Given the description of an element on the screen output the (x, y) to click on. 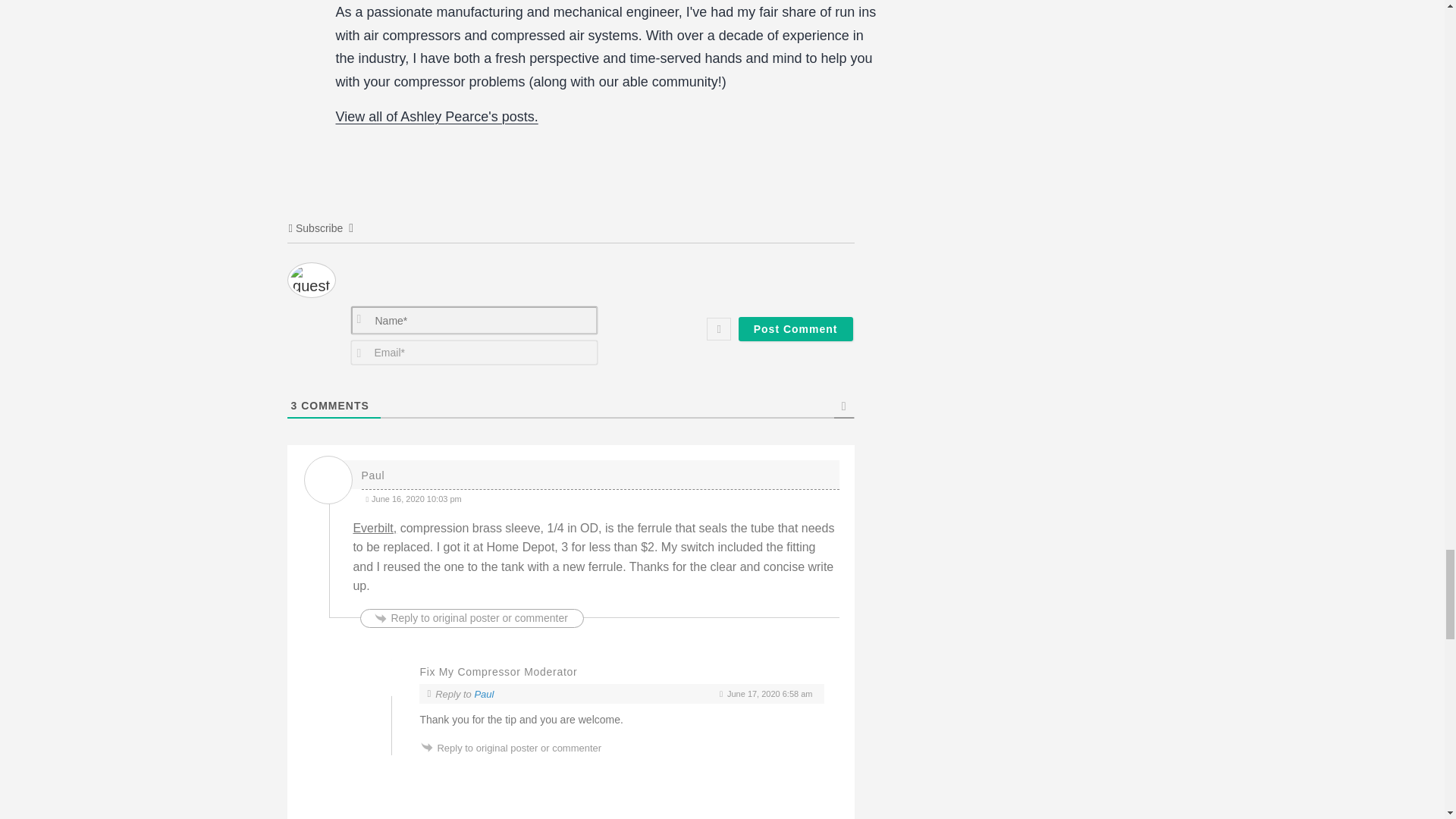
3 (294, 405)
Post Comment (795, 328)
Post Comment (795, 328)
June 16, 2020 10:03 pm (599, 497)
June 17, 2020 6:58 am (766, 693)
Paul (483, 694)
View all of Ashley Pearce's posts. (435, 116)
